Given the description of an element on the screen output the (x, y) to click on. 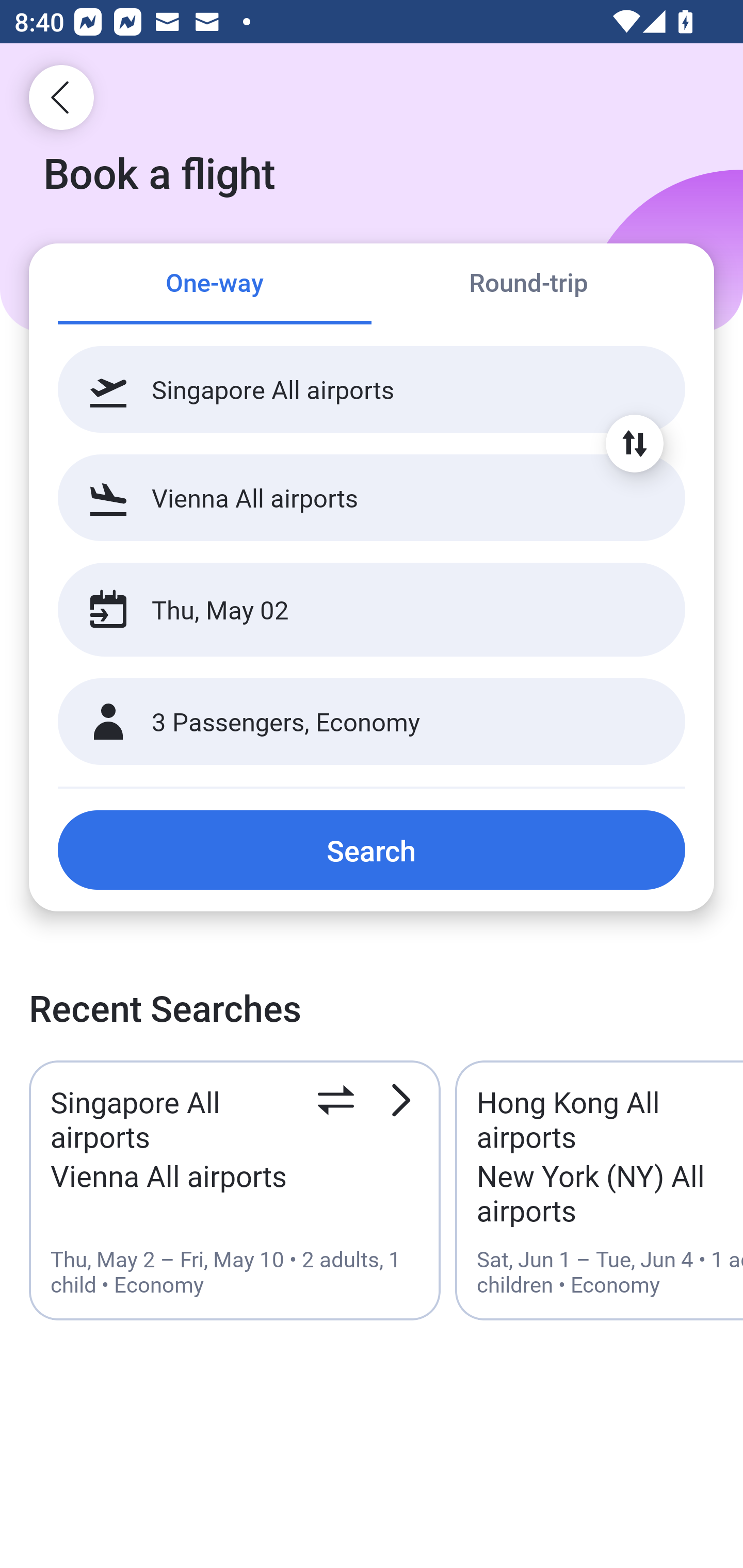
Round-trip (528, 284)
Singapore All airports (371, 389)
Vienna All airports (371, 497)
Thu, May 02 (349, 609)
3 Passengers, Economy (371, 721)
Search (371, 849)
